Given the description of an element on the screen output the (x, y) to click on. 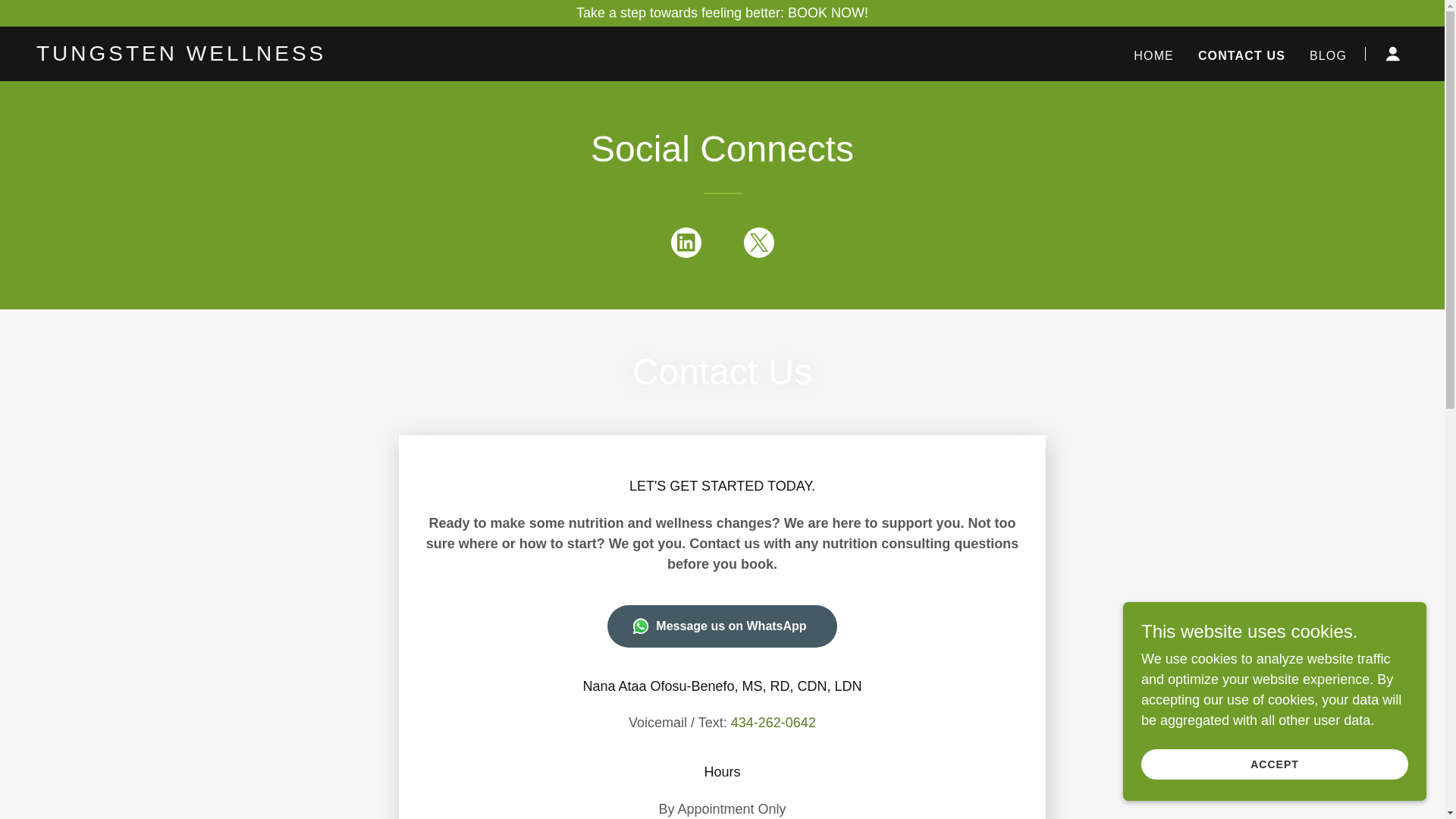
Tungsten Wellness (276, 55)
ACCEPT (1274, 764)
Message us on WhatsApp (721, 626)
HOME (1153, 55)
TUNGSTEN WELLNESS (276, 55)
434-262-0642 (772, 722)
CONTACT US (1241, 55)
BLOG (1327, 55)
